Given the description of an element on the screen output the (x, y) to click on. 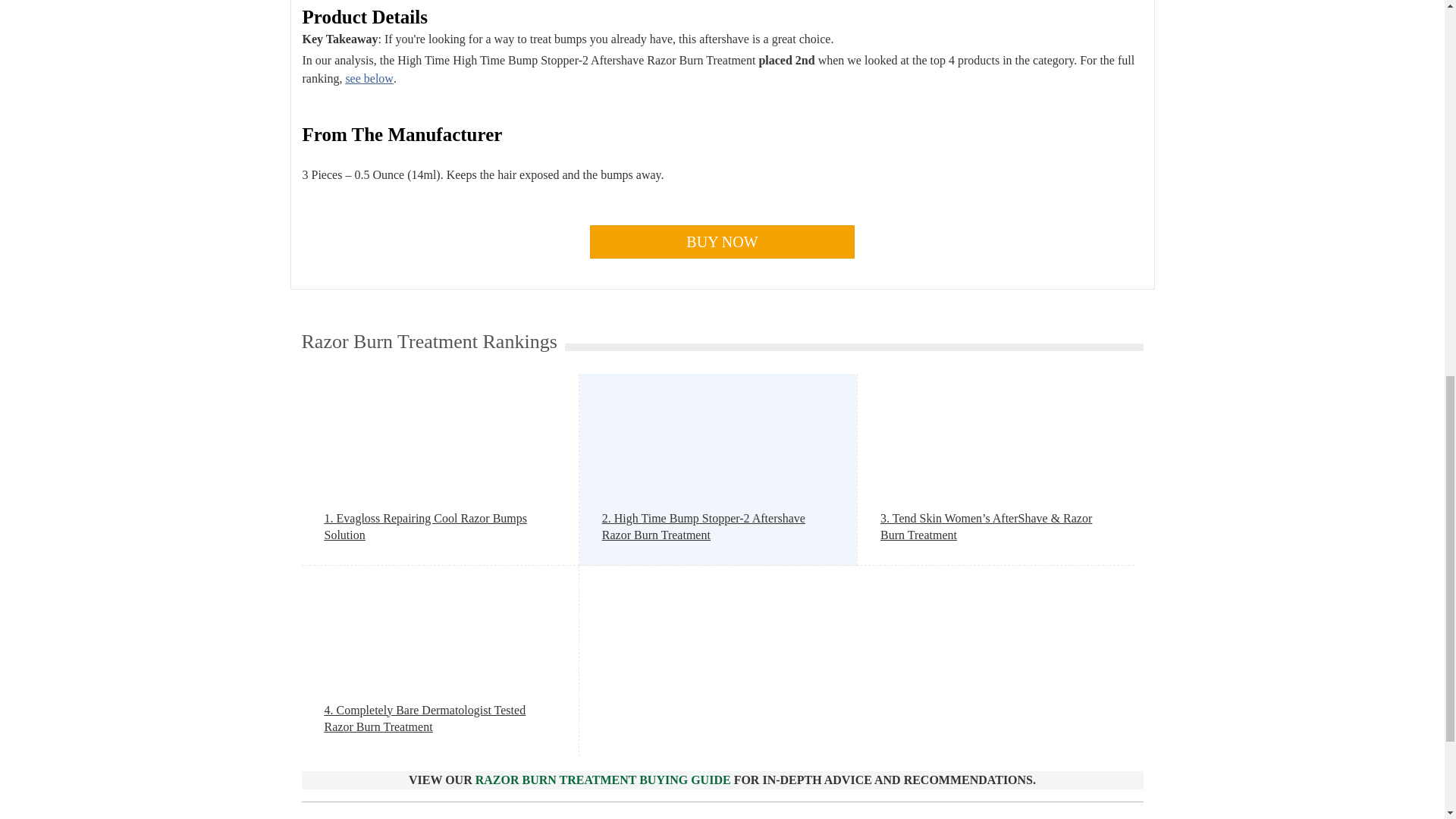
2. High Time Bump Stopper-2 Aftershave Razor Burn Treatment (718, 527)
BUY NOW (721, 241)
see below (369, 78)
1. Evagloss Repairing Cool Razor Bumps Solution (440, 527)
